Given the description of an element on the screen output the (x, y) to click on. 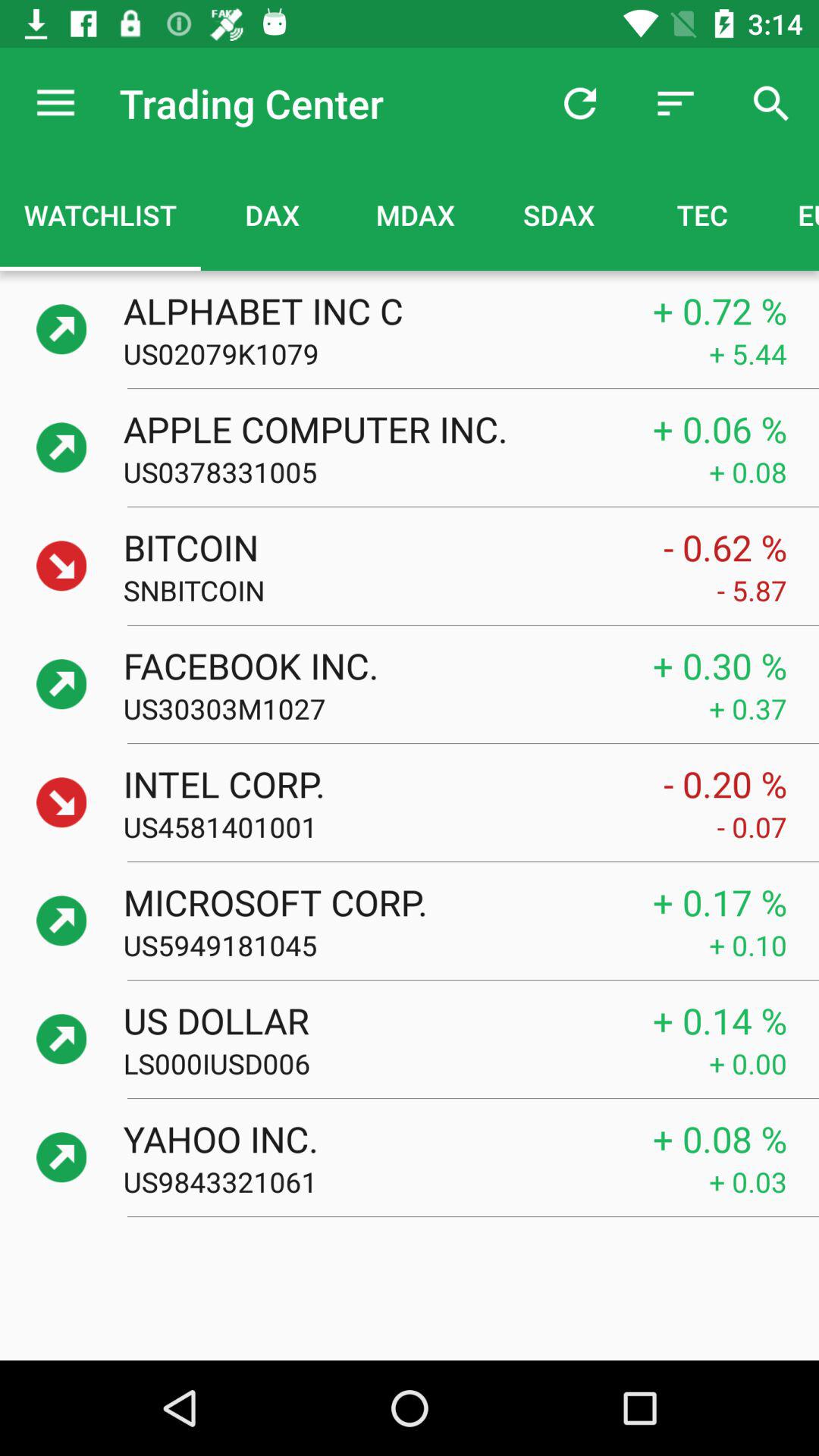
choose the icon to the left of the trading center icon (55, 103)
